Given the description of an element on the screen output the (x, y) to click on. 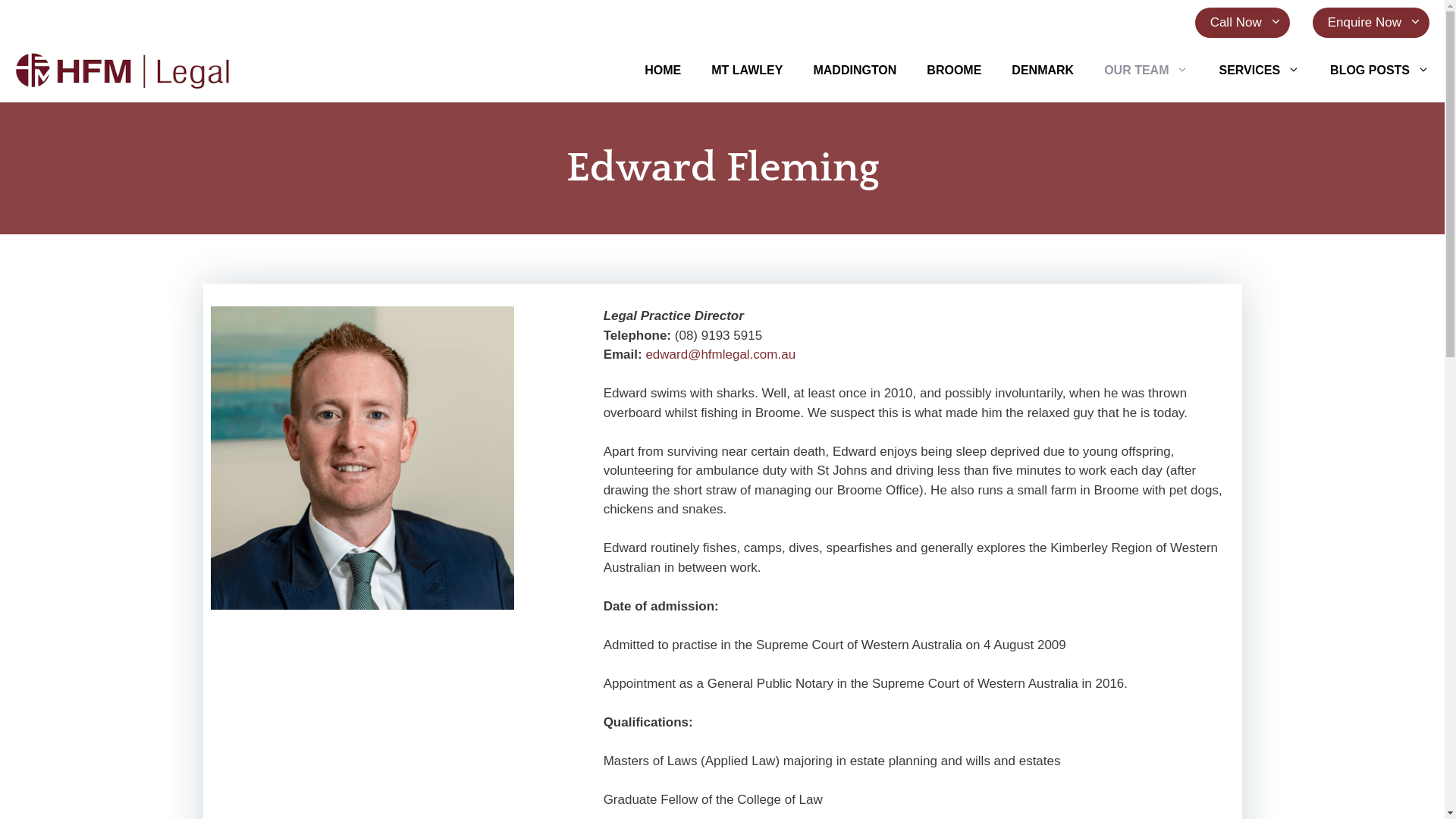
SERVICES Element type: text (1258, 69)
HFM Legal Element type: hover (123, 69)
BLOG POSTS Element type: text (1379, 69)
Enquire Now Element type: text (1370, 22)
BROOME Element type: text (953, 69)
Call Now Element type: text (1242, 22)
MT LAWLEY Element type: text (746, 69)
HOME Element type: text (662, 69)
edward@hfmlegal.com.au Element type: text (720, 354)
MADDINGTON Element type: text (854, 69)
DENMARK Element type: text (1042, 69)
OUR TEAM Element type: text (1145, 69)
